Given the description of an element on the screen output the (x, y) to click on. 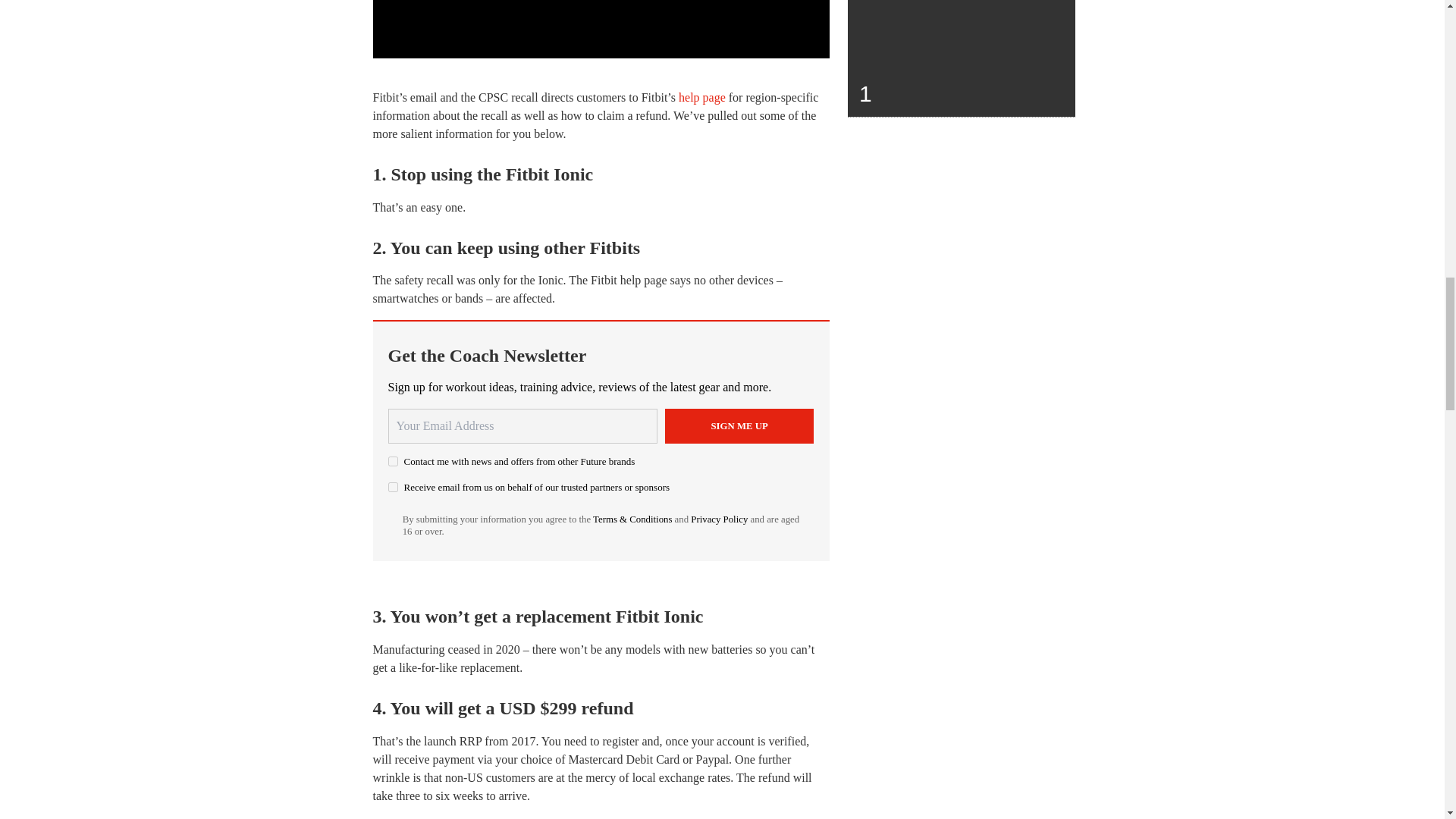
on (392, 487)
on (392, 461)
Sign me up (739, 425)
